Given the description of an element on the screen output the (x, y) to click on. 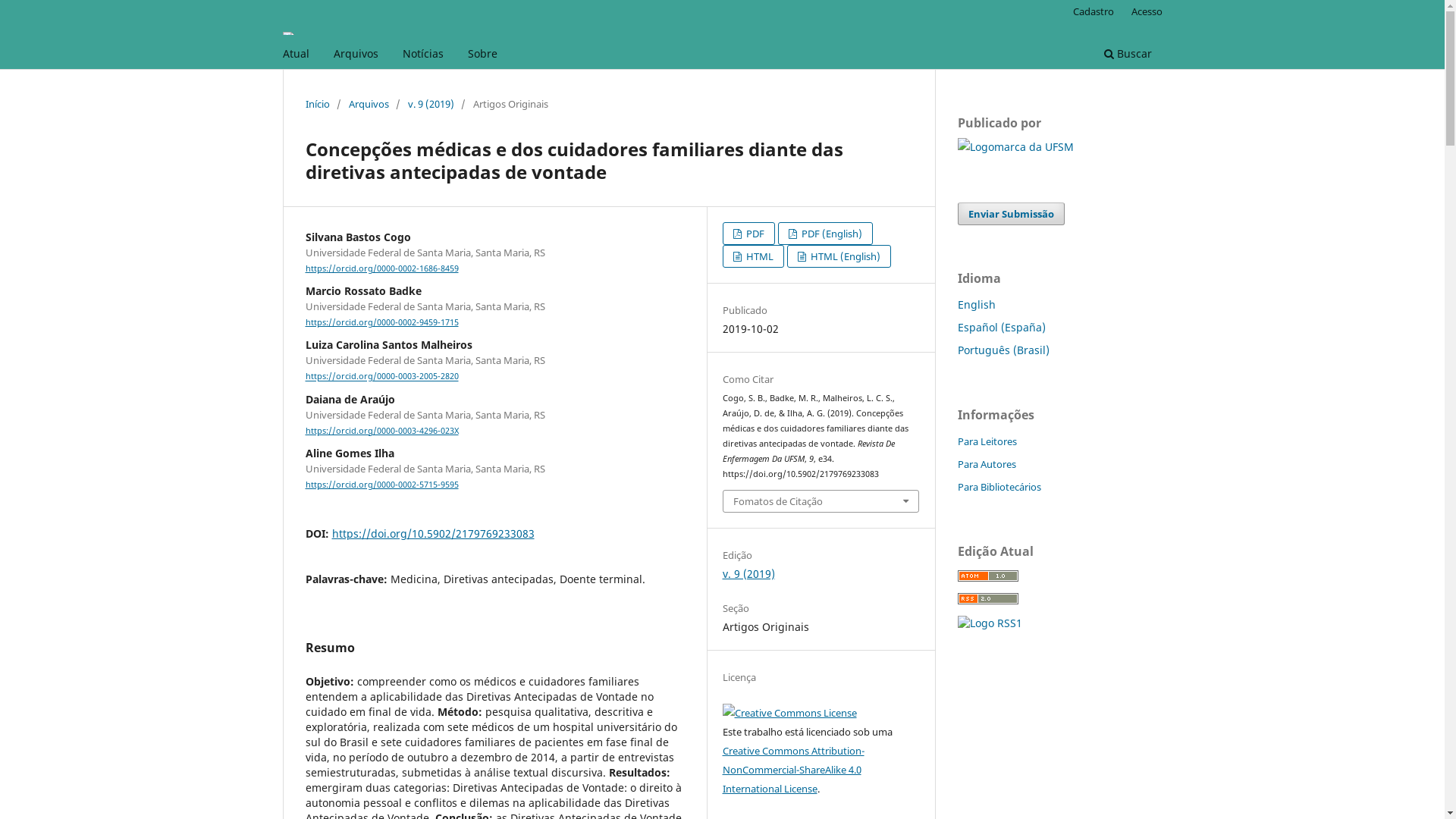
Para Autores Element type: text (986, 463)
HTML Element type: text (753, 255)
Sobre Element type: text (482, 55)
Arquivos Element type: text (354, 55)
HTML (English) Element type: text (839, 255)
https://orcid.org/0000-0002-5715-9595 Element type: text (381, 484)
Site da UFSM Element type: hover (1015, 146)
v. 9 (2019) Element type: text (430, 103)
PDF (English) Element type: text (825, 233)
Cadastro Element type: text (1093, 11)
https://orcid.org/0000-0003-4296-023X Element type: text (381, 430)
https://orcid.org/0000-0002-1686-8459 Element type: text (381, 268)
https://doi.org/10.5902/2179769233083 Element type: text (433, 533)
https://orcid.org/0000-0003-2005-2820 Element type: text (381, 376)
v. 9 (2019) Element type: text (748, 573)
Para Leitores Element type: text (986, 441)
Atual Element type: text (295, 55)
https://orcid.org/0000-0002-9459-1715 Element type: text (381, 321)
English Element type: text (975, 304)
Buscar Element type: text (1127, 55)
Arquivos Element type: text (368, 103)
PDF Element type: text (748, 233)
Acesso Element type: text (1146, 11)
